Given the description of an element on the screen output the (x, y) to click on. 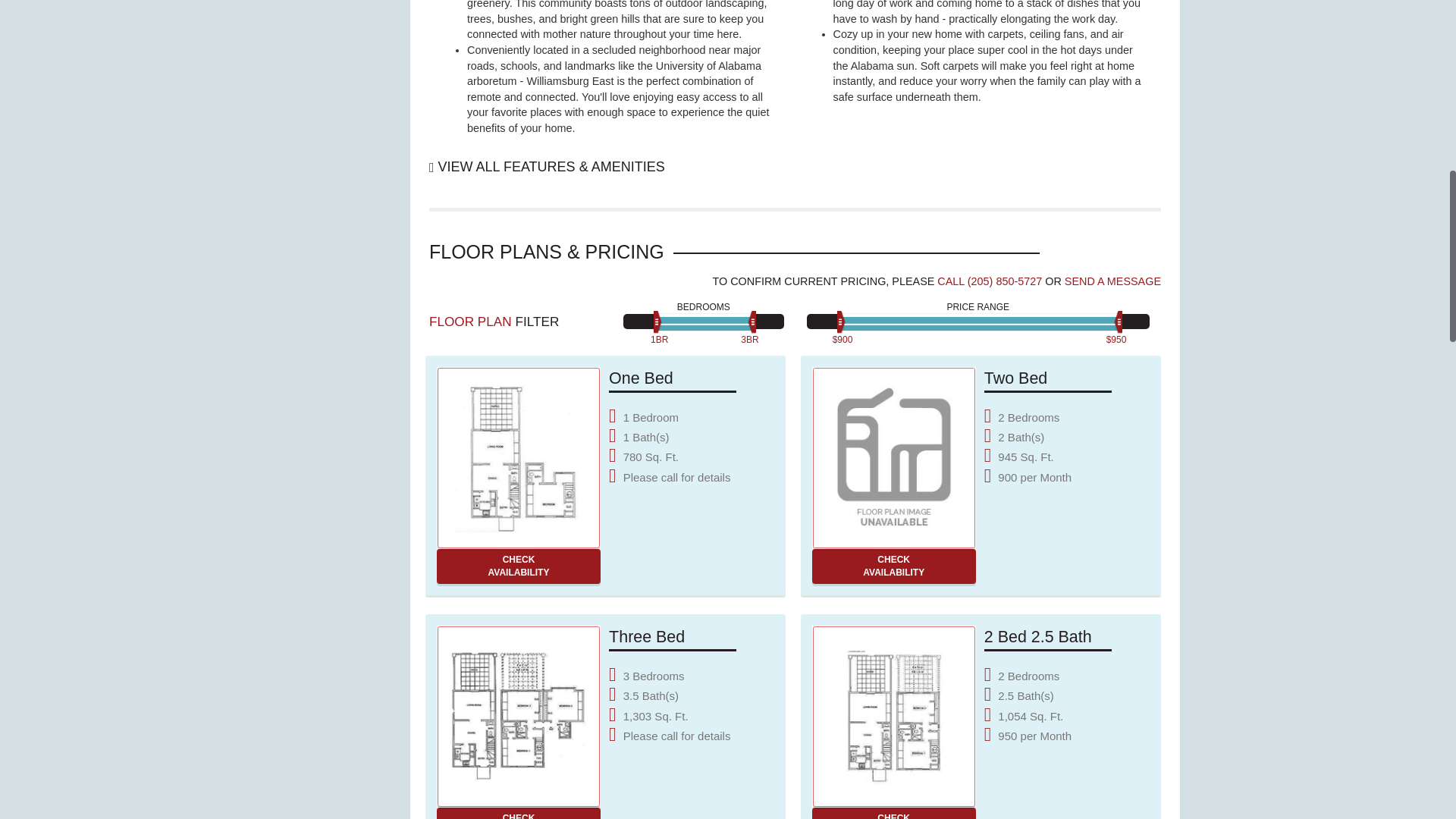
Three Bed (517, 716)
One Bed (517, 565)
SEND A MESSAGE (517, 457)
2 Bed 2.5 Bath (517, 813)
Two Bed (1112, 281)
